Given the description of an element on the screen output the (x, y) to click on. 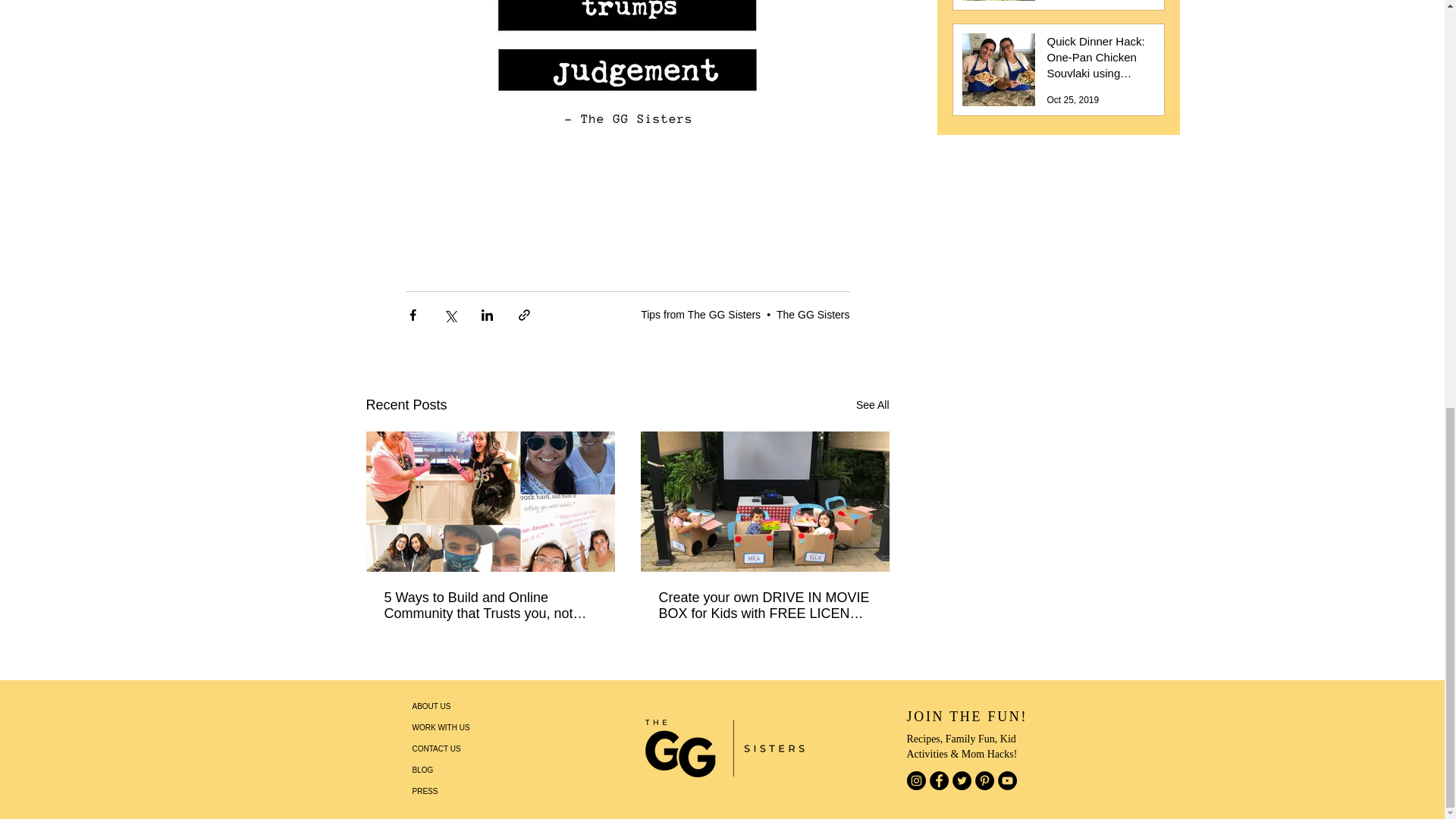
WORK WITH US (465, 727)
CONTACT US (465, 749)
BLOG (465, 770)
ABOUT US (465, 706)
The GG Sisters (812, 314)
PRESS (465, 791)
See All (872, 404)
Oct 25, 2019 (1072, 100)
Tips from The GG Sisters (700, 314)
